Given the description of an element on the screen output the (x, y) to click on. 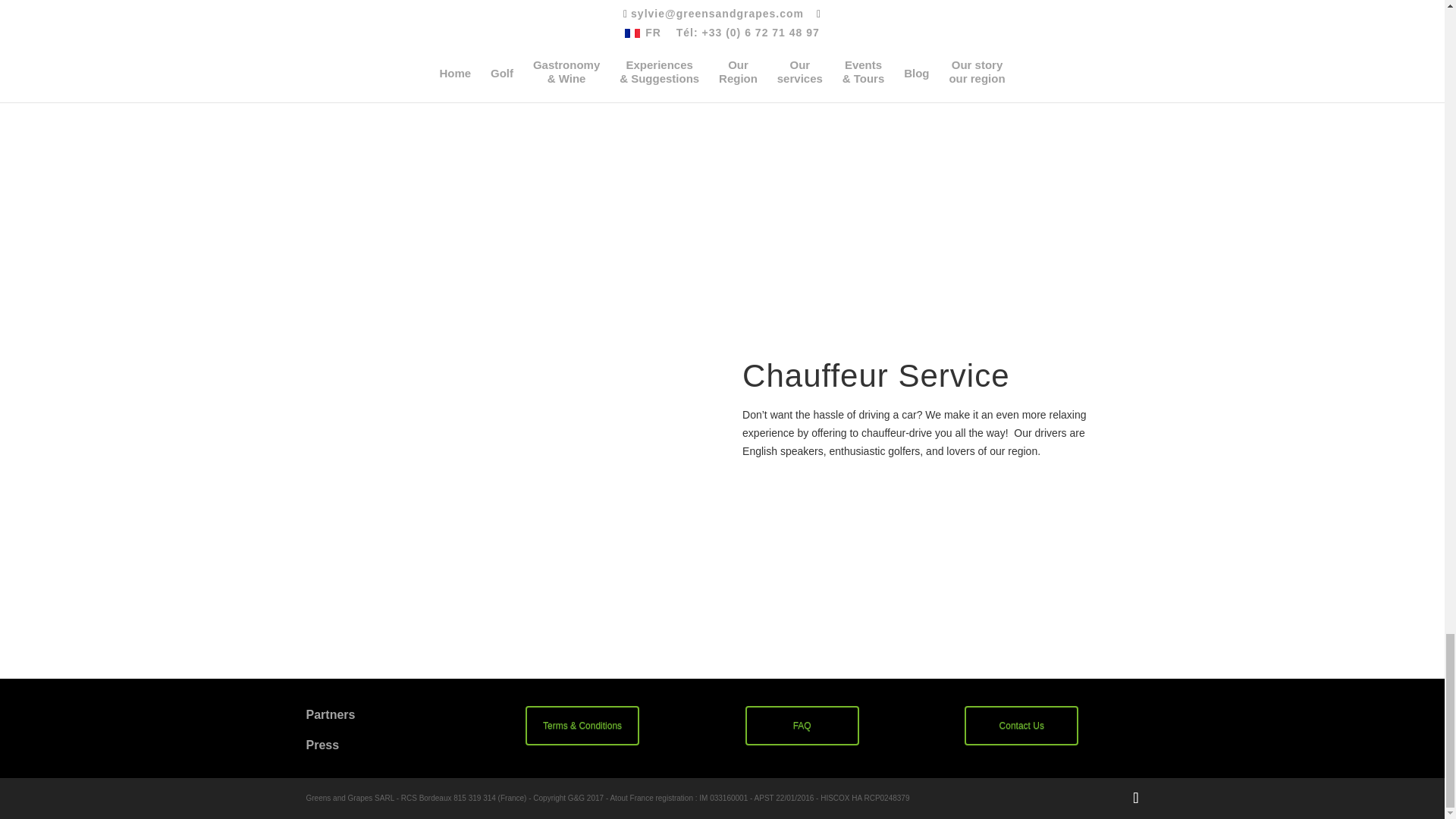
FAQ (802, 725)
Partners (330, 714)
Contact Us (1020, 725)
Book Now (392, 36)
Press (322, 744)
